Given the description of an element on the screen output the (x, y) to click on. 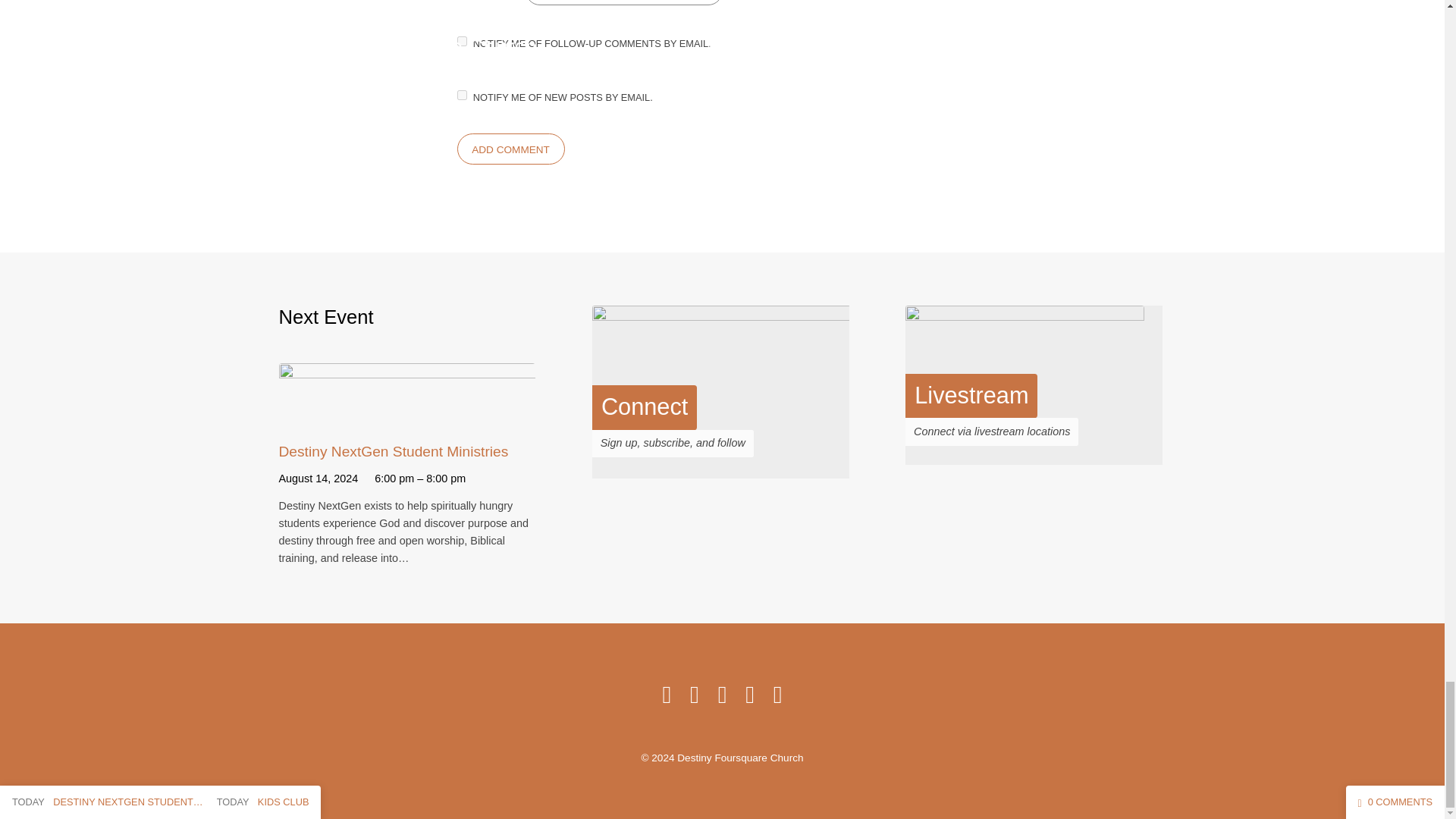
Add Comment (510, 148)
subscribe (461, 40)
subscribe (461, 94)
